Given the description of an element on the screen output the (x, y) to click on. 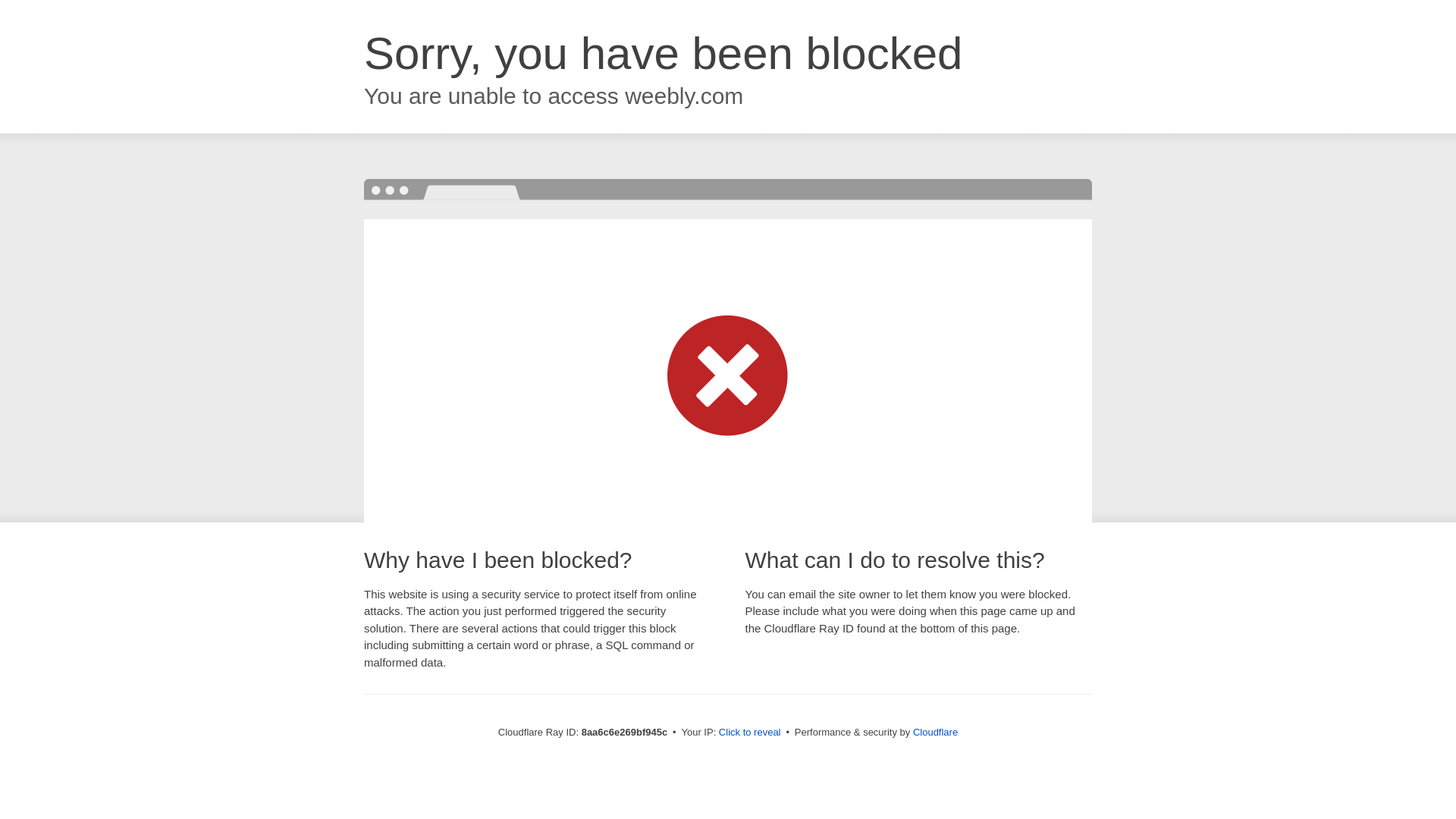
Click to reveal (749, 732)
Cloudflare (935, 731)
